Given the description of an element on the screen output the (x, y) to click on. 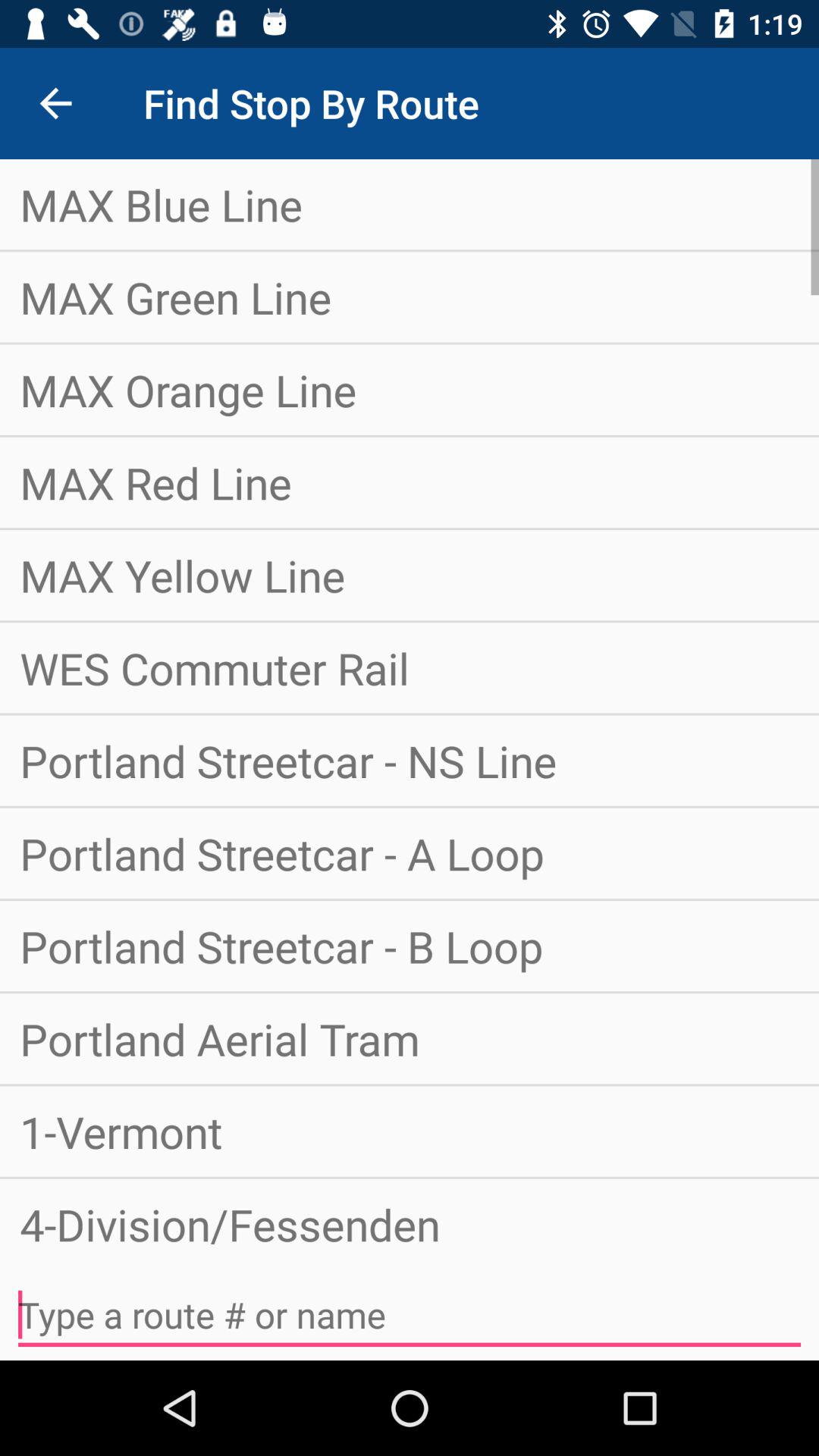
open icon above the 1-vermont icon (409, 1038)
